Given the description of an element on the screen output the (x, y) to click on. 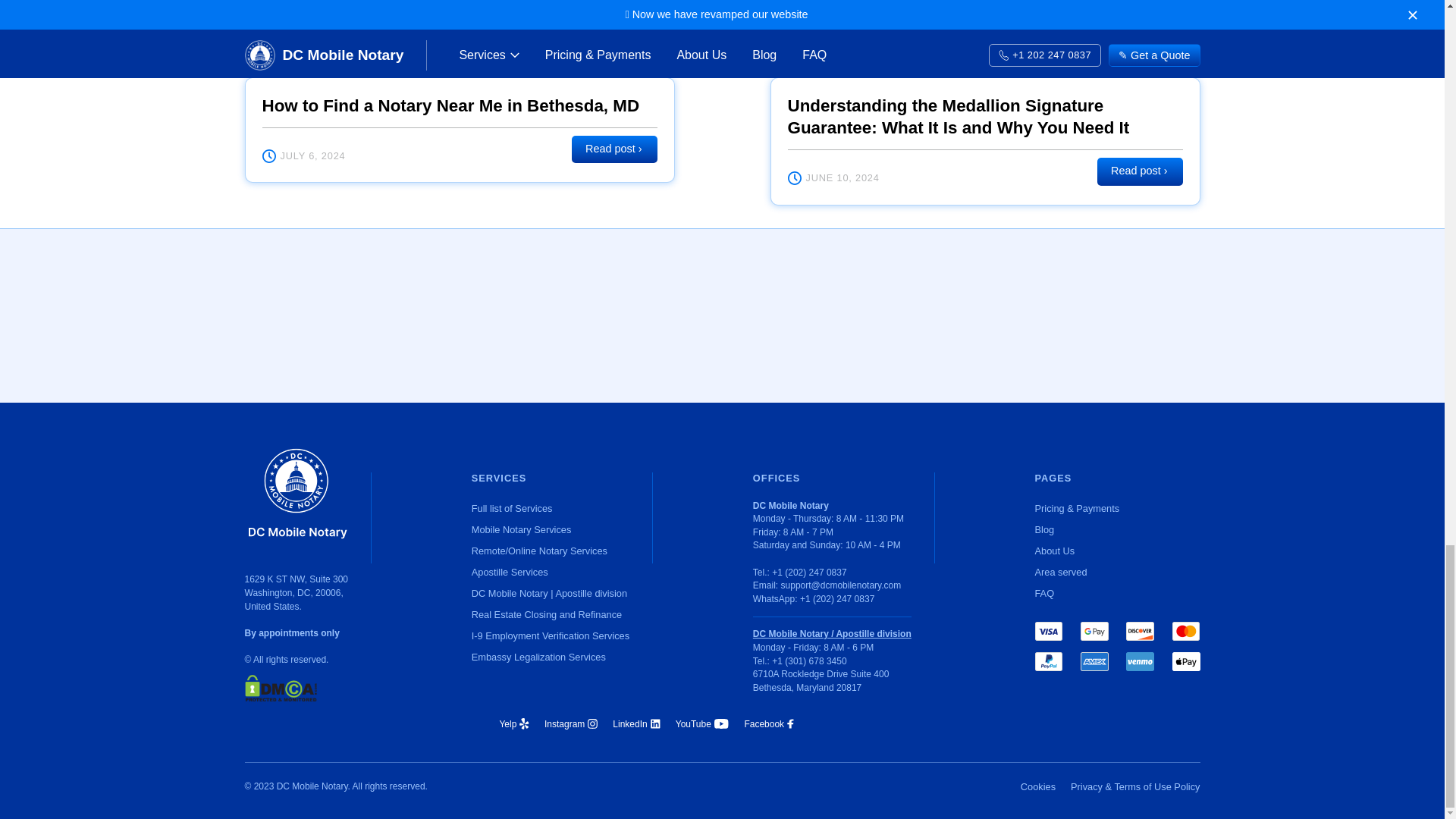
Twitter Follow Button (876, 724)
Mobile Notary Services (549, 529)
Full list of Services (549, 508)
Apostille Services (549, 572)
